Given the description of an element on the screen output the (x, y) to click on. 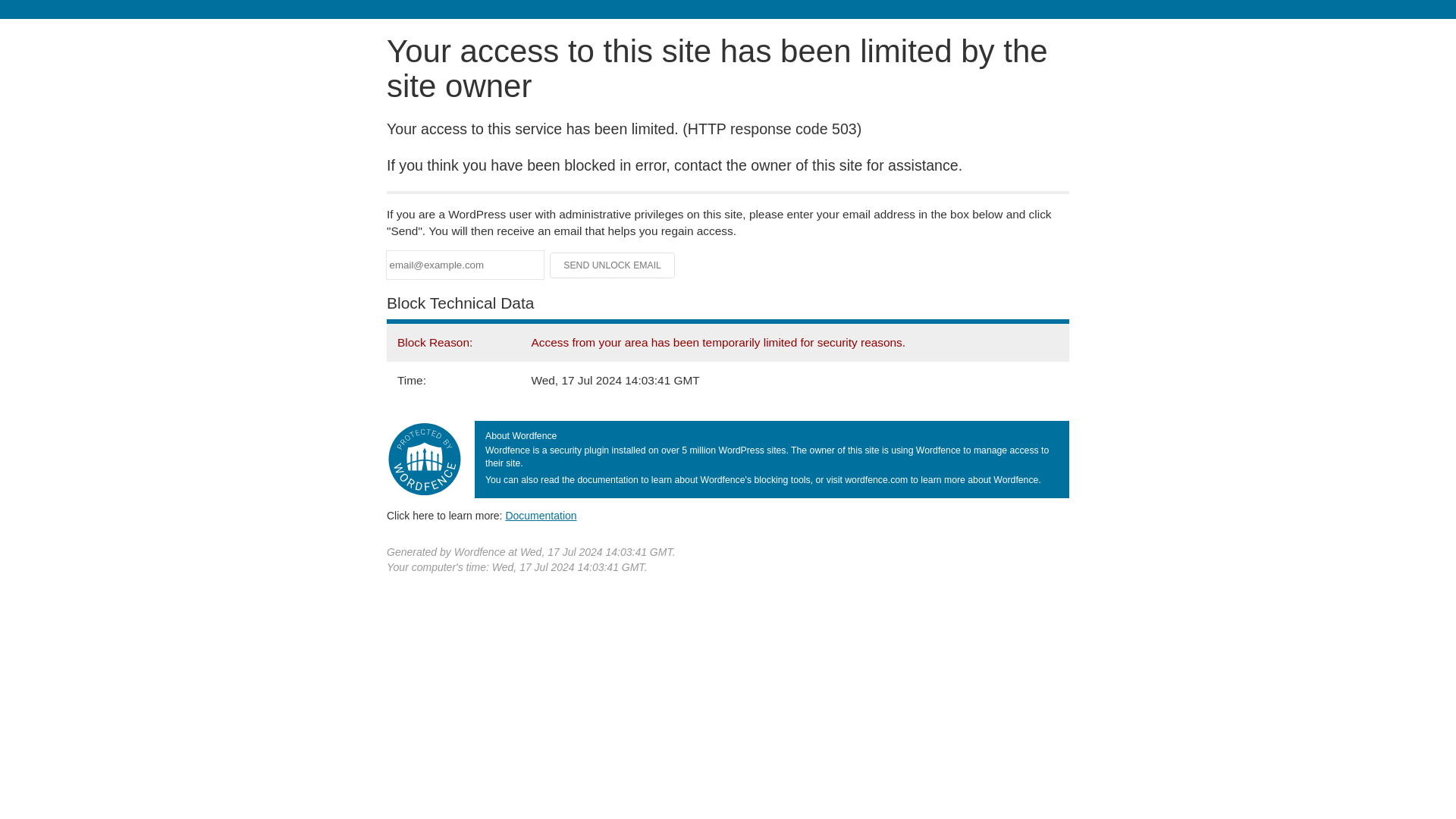
Send Unlock Email (612, 265)
Documentation (540, 515)
Send Unlock Email (612, 265)
